Given the description of an element on the screen output the (x, y) to click on. 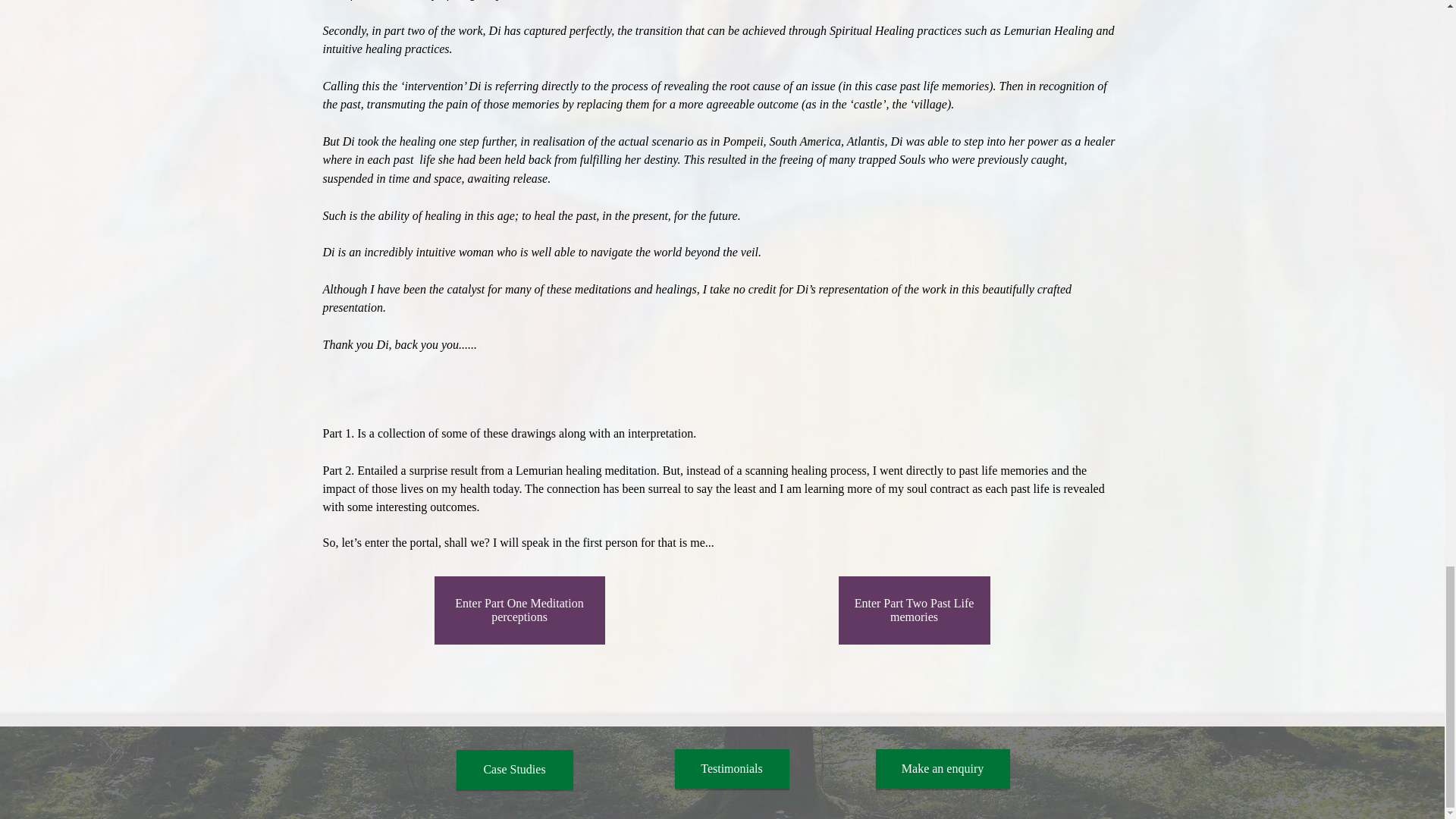
Enter Part Two Past Life memories (914, 610)
Make an enquiry (942, 768)
Testimonials (732, 768)
Enter Part One Meditation perceptions (518, 610)
Case Studies (515, 769)
